Given the description of an element on the screen output the (x, y) to click on. 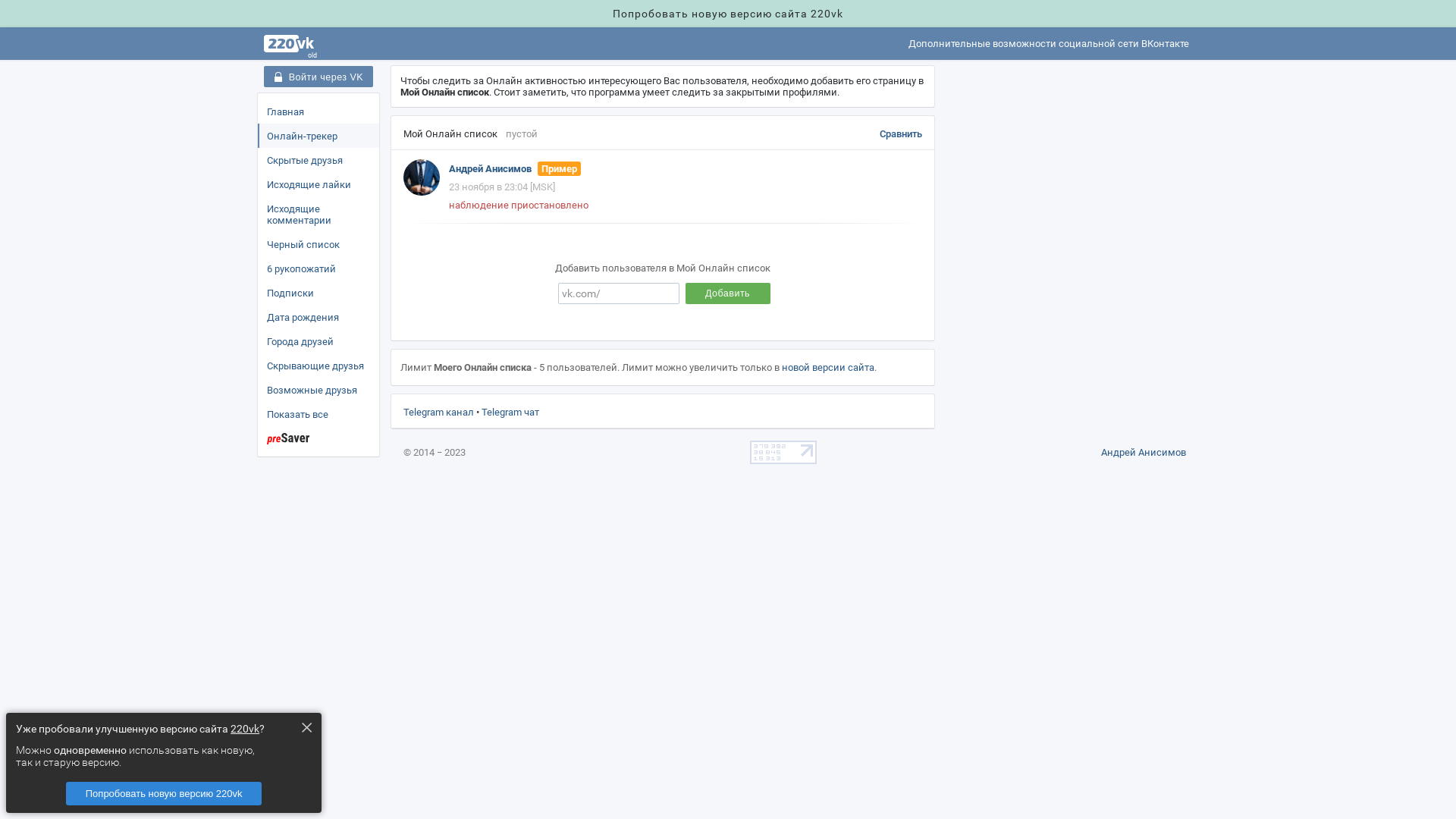
220vk Element type: text (244, 727)
